Given the description of an element on the screen output the (x, y) to click on. 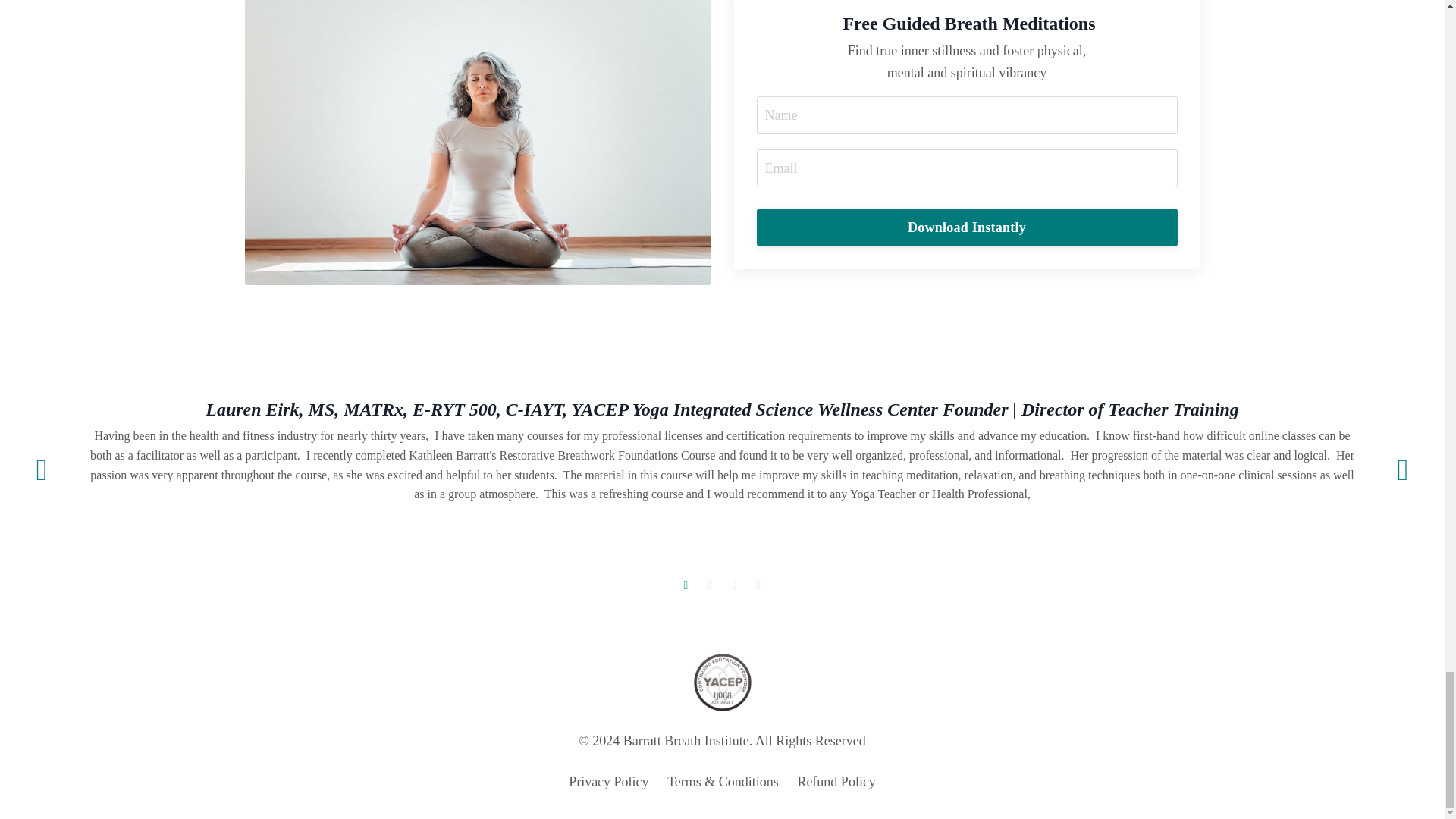
Privacy Policy (609, 781)
3 (733, 585)
Refund Policy (836, 781)
2 (709, 585)
1 (685, 585)
Download Instantly (967, 227)
4 (758, 585)
